Given the description of an element on the screen output the (x, y) to click on. 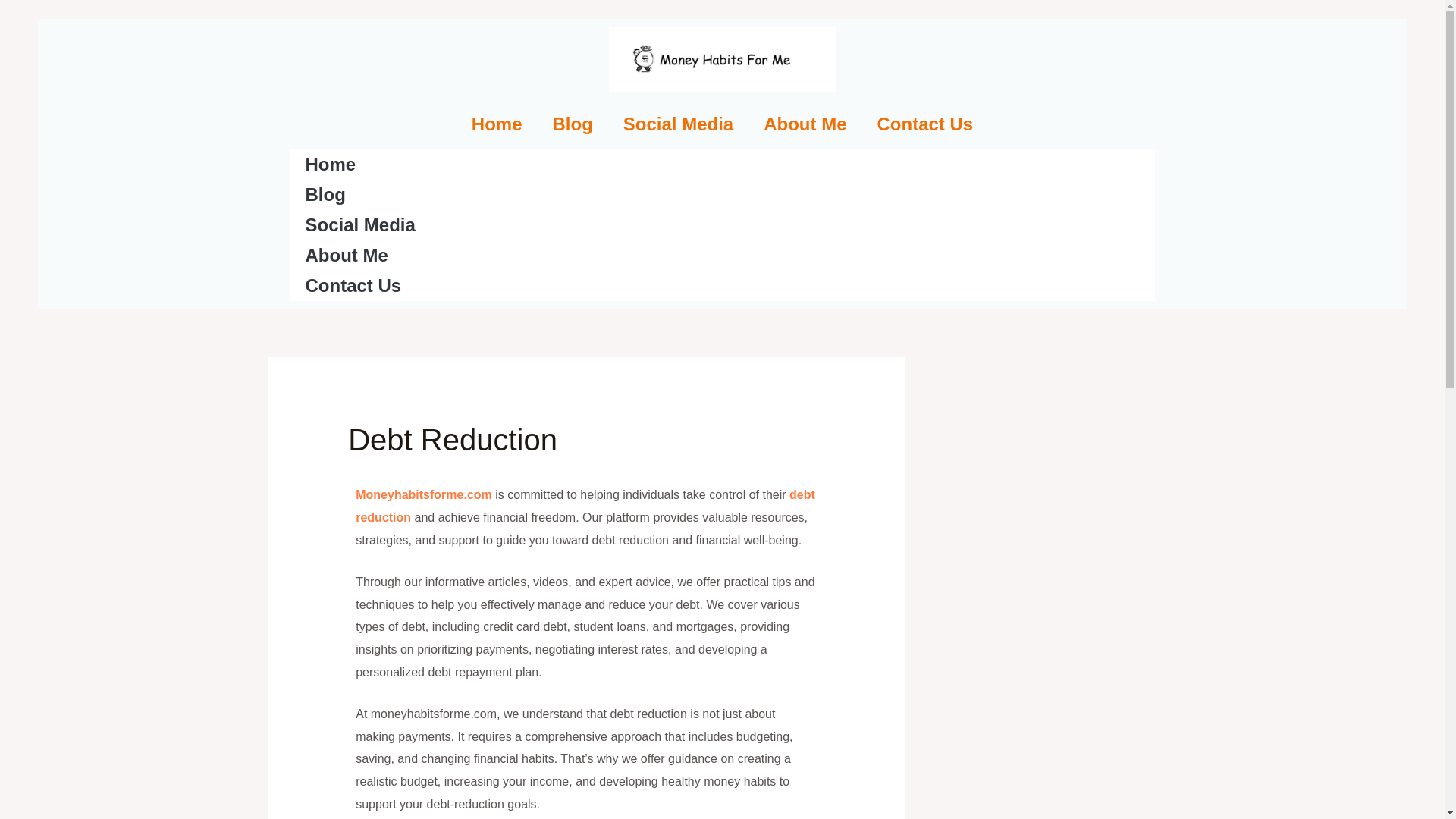
Social Media (678, 124)
Contact Us (721, 286)
Home (497, 124)
Moneyhabitsforme.com (423, 494)
debt reduction (585, 506)
Social Media (721, 224)
About Me (721, 255)
About Me (804, 124)
Blog (721, 194)
Blog (572, 124)
